Given the description of an element on the screen output the (x, y) to click on. 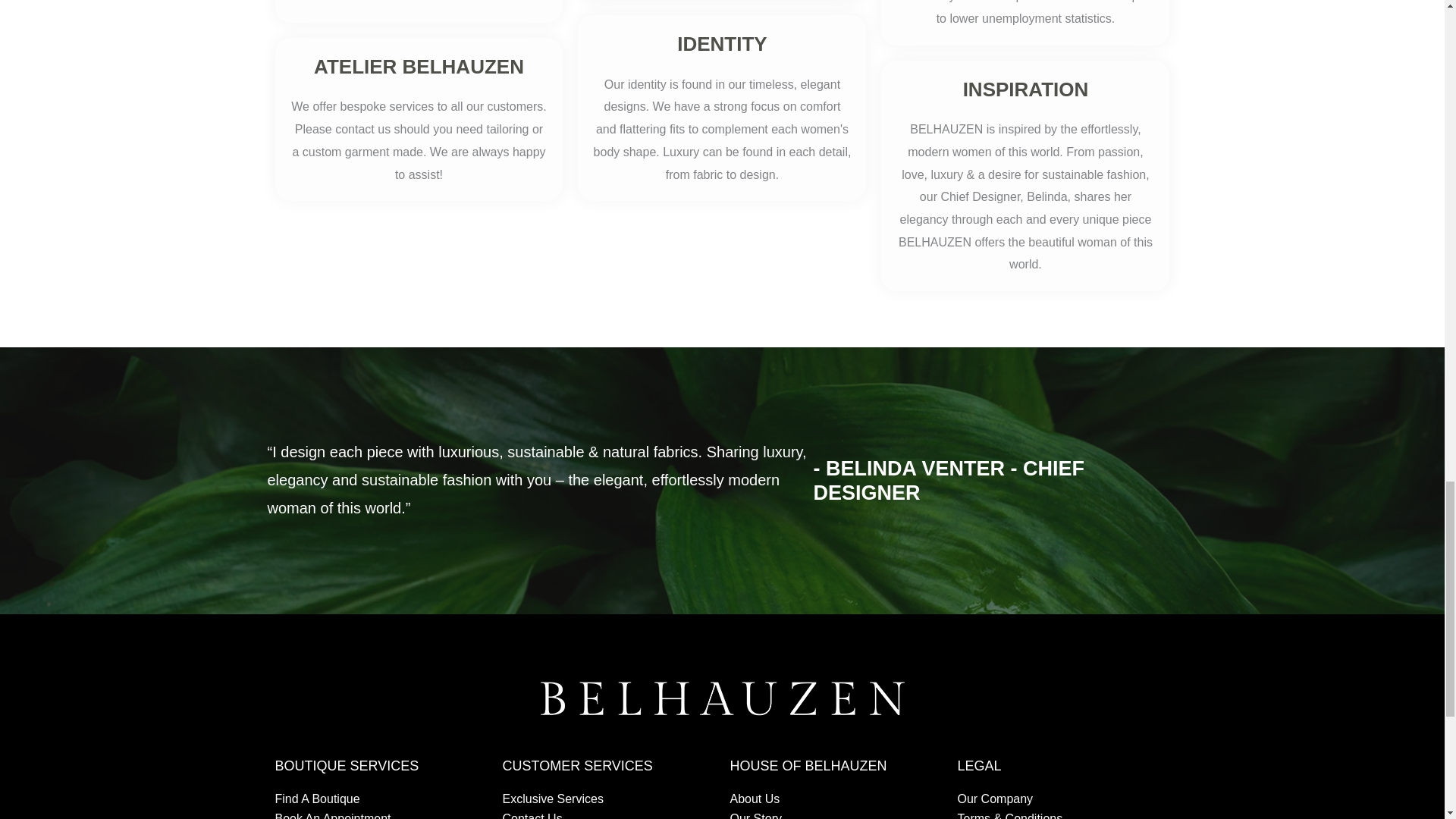
About Us (835, 799)
Find A Boutique (380, 799)
Exclusive Services (608, 799)
Contact Us (608, 814)
Our Story (835, 814)
Book An Appointment (380, 814)
